Given the description of an element on the screen output the (x, y) to click on. 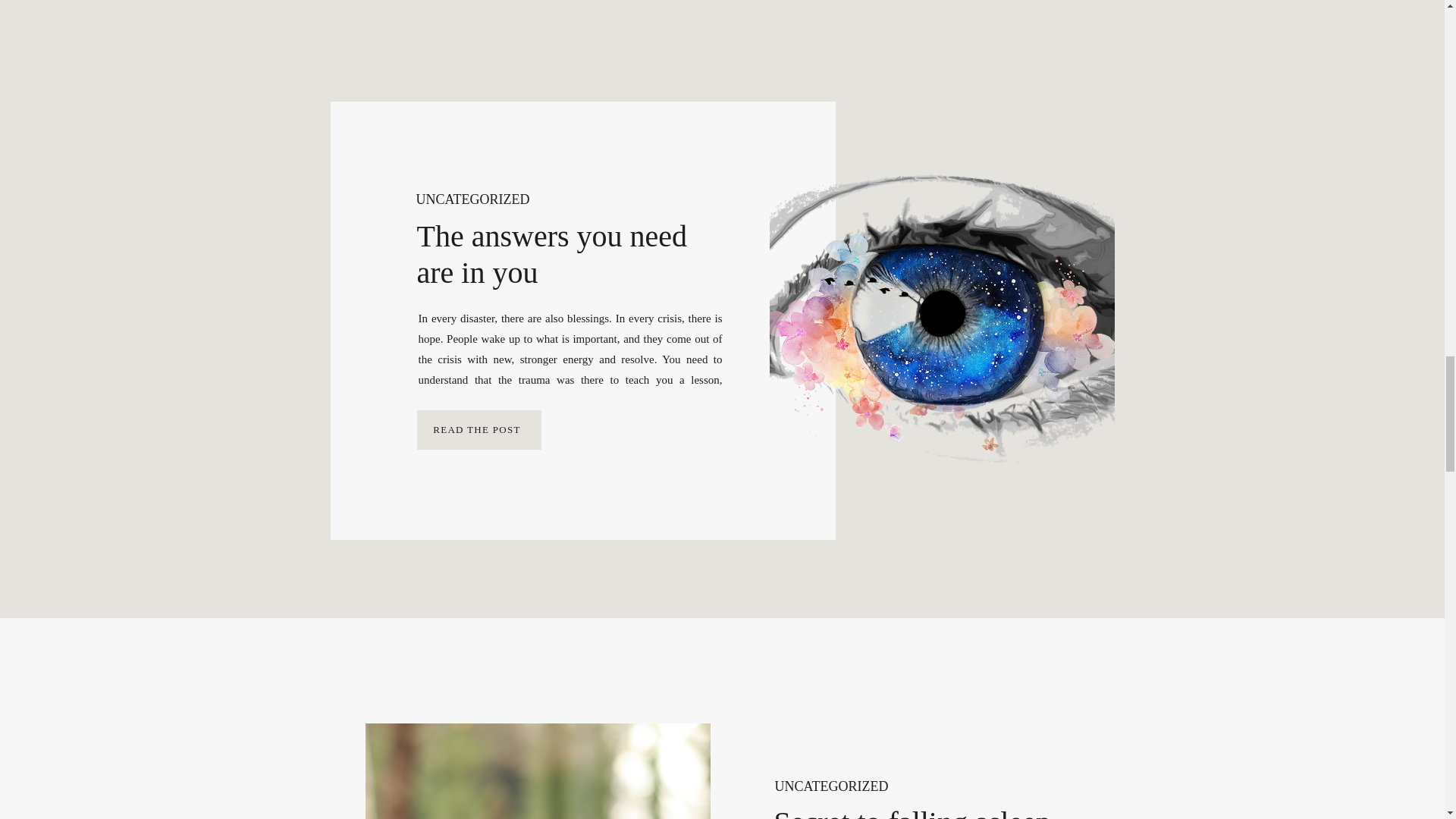
The answers you need are in you (478, 429)
The answers you need are in you (551, 254)
UNCATEGORIZED (471, 199)
READ THE POST (477, 429)
Secret to falling asleep in two minutes (537, 771)
The answers you need are in you (477, 429)
